Given the description of an element on the screen output the (x, y) to click on. 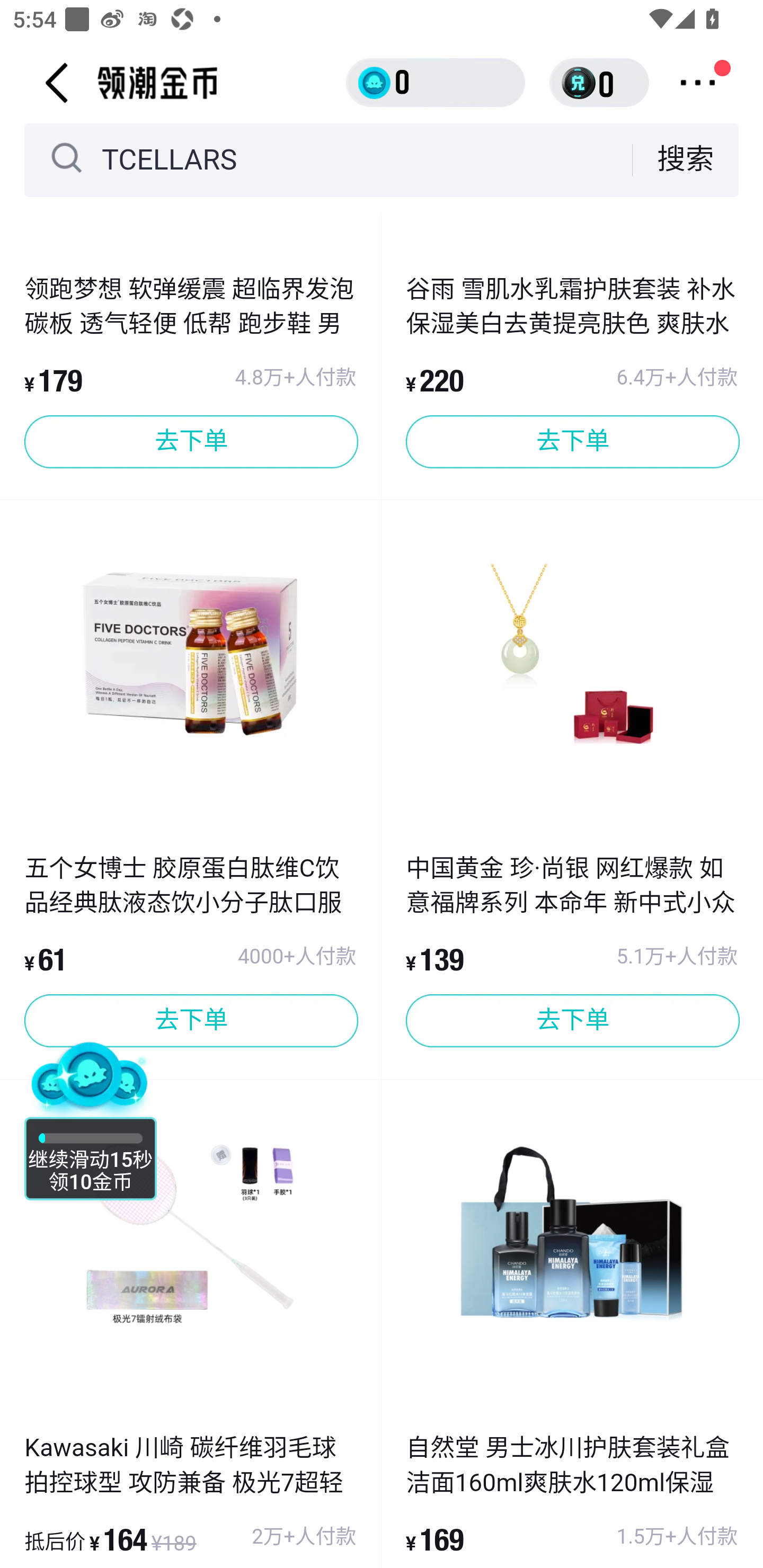
搜索 (685, 159)
去下单 (190, 441)
去下单 (572, 441)
去下单 (190, 1019)
去下单 (572, 1019)
